Given the description of an element on the screen output the (x, y) to click on. 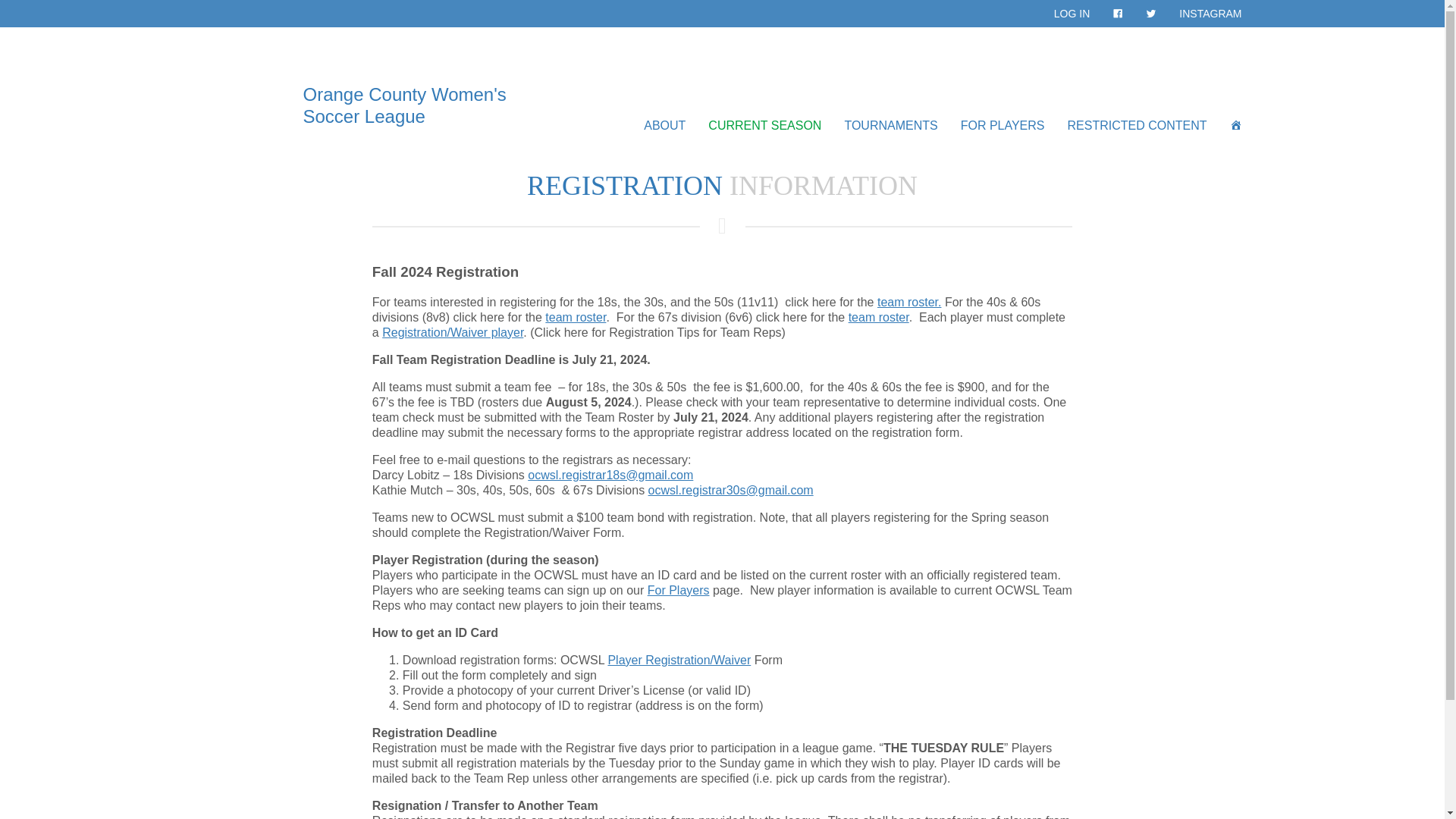
TOURNAMENTS (890, 125)
ABOUT (664, 125)
RESTRICTED CONTENT (1136, 125)
FOR PLAYERS (1003, 125)
INSTAGRAM (1209, 13)
LOG IN (1071, 13)
CURRENT SEASON (764, 125)
